Given the description of an element on the screen output the (x, y) to click on. 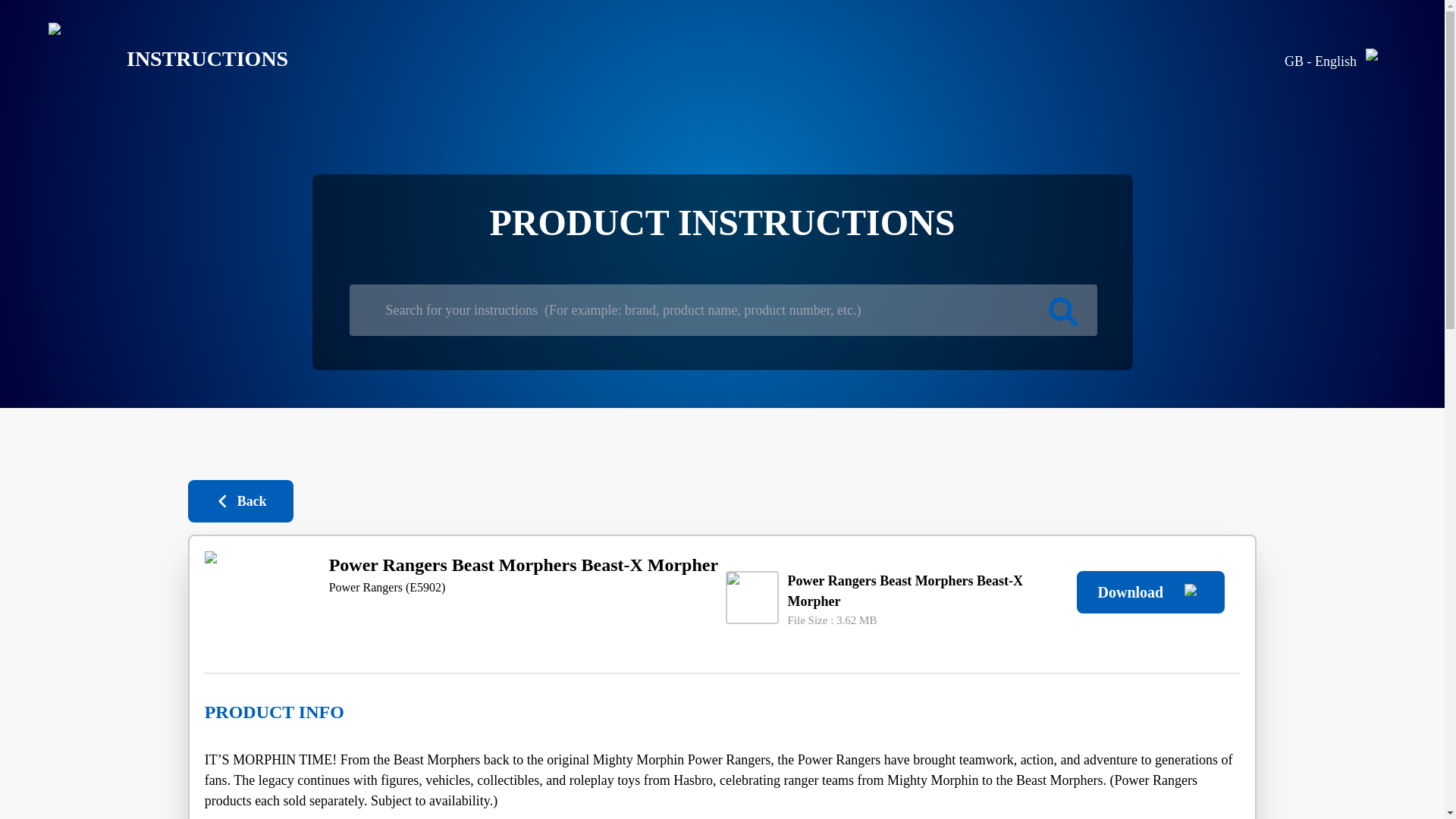
Back (240, 500)
Download (1150, 591)
INSTRUCTIONS (156, 59)
